Given the description of an element on the screen output the (x, y) to click on. 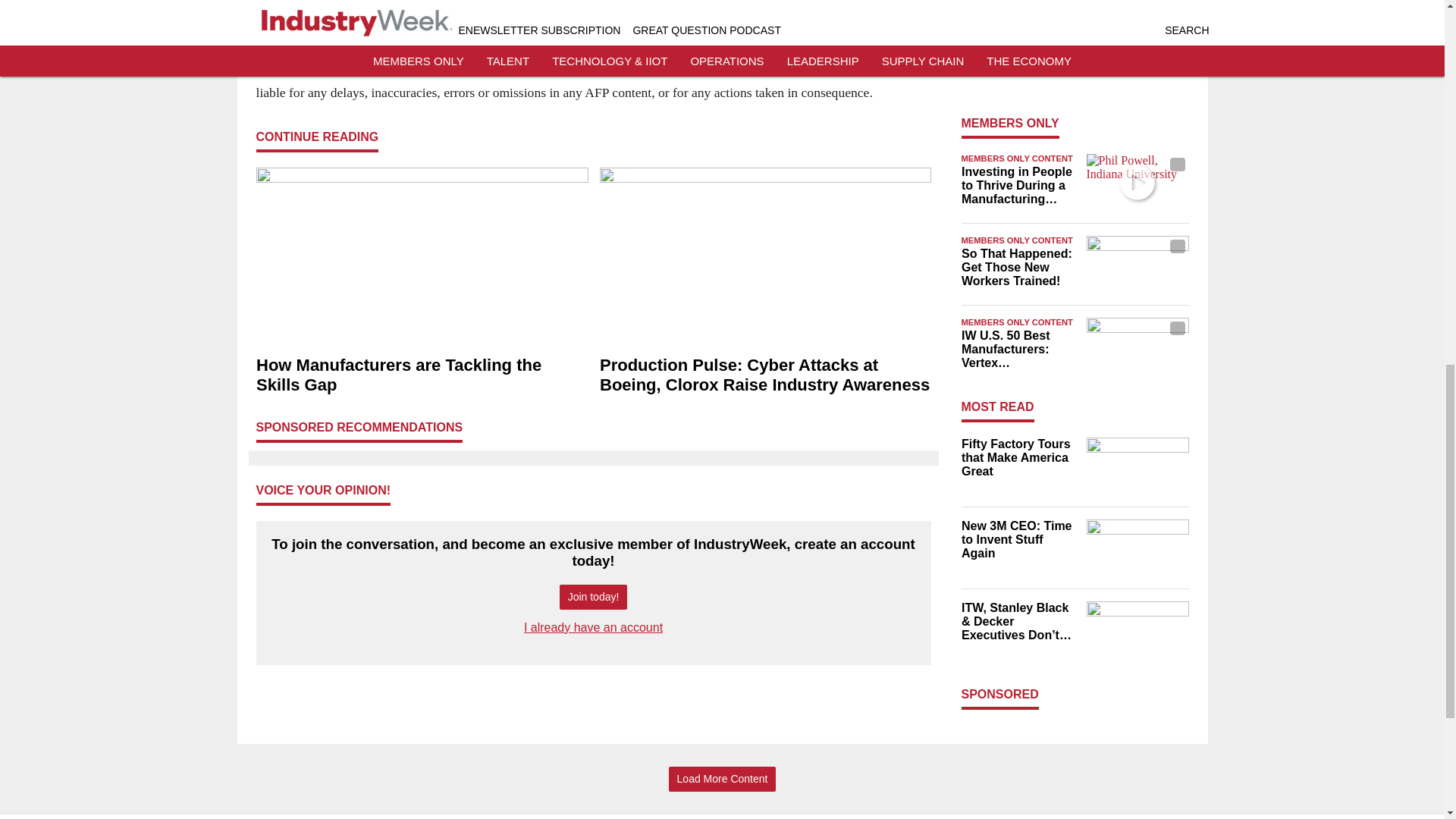
How Manufacturers are Tackling the Skills Gap (422, 374)
So That Happened: Get Those New Workers Trained! (1019, 267)
I already have an account (593, 626)
Join today! (593, 596)
Phil Powell, Indiana University (1137, 181)
MEMBERS ONLY (1009, 123)
